Given the description of an element on the screen output the (x, y) to click on. 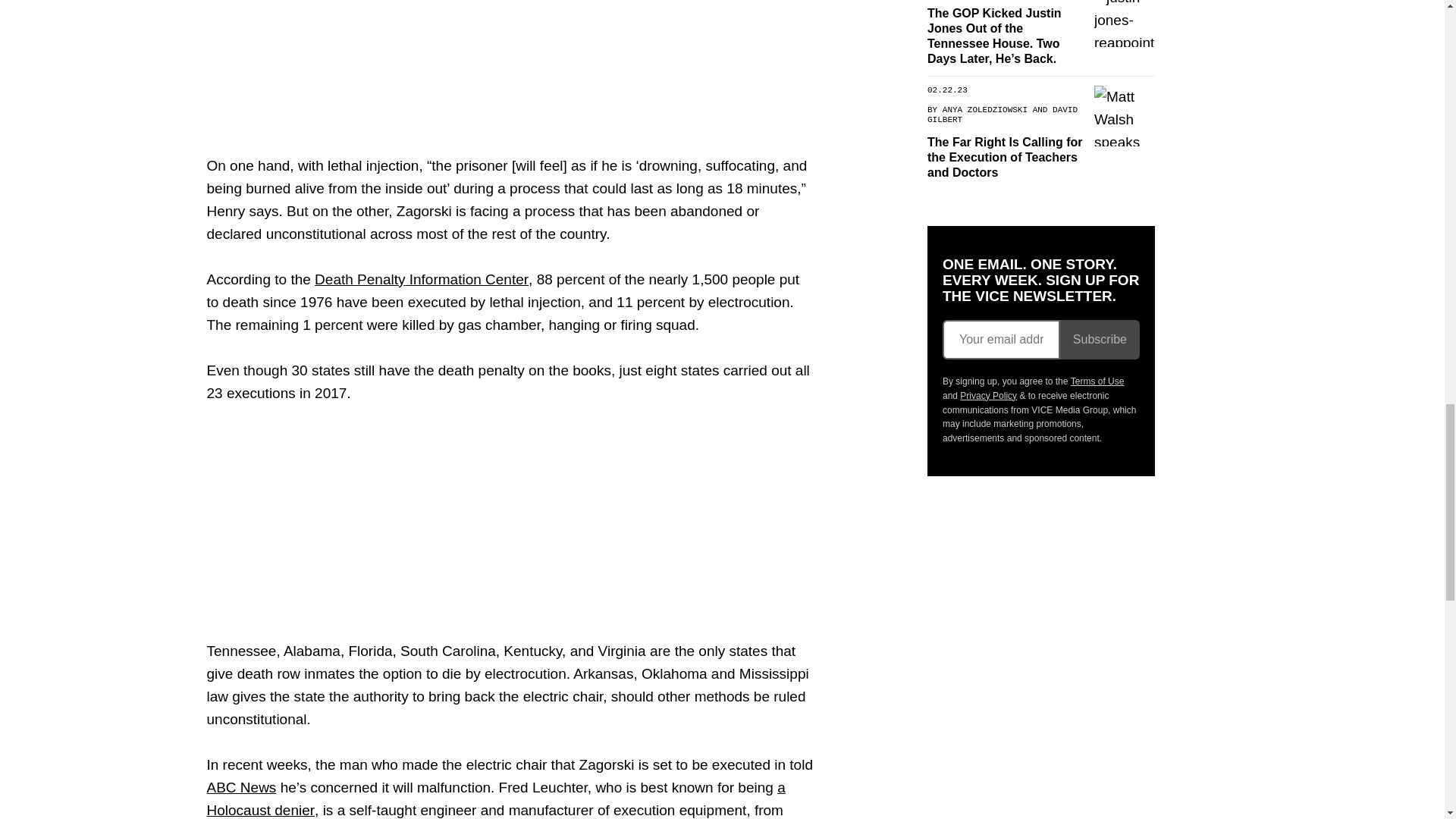
Posts by David Gilbert (1001, 114)
Posts by Anya Zoledziowski (984, 108)
Newsletter Signup Form (1040, 339)
